Given the description of an element on the screen output the (x, y) to click on. 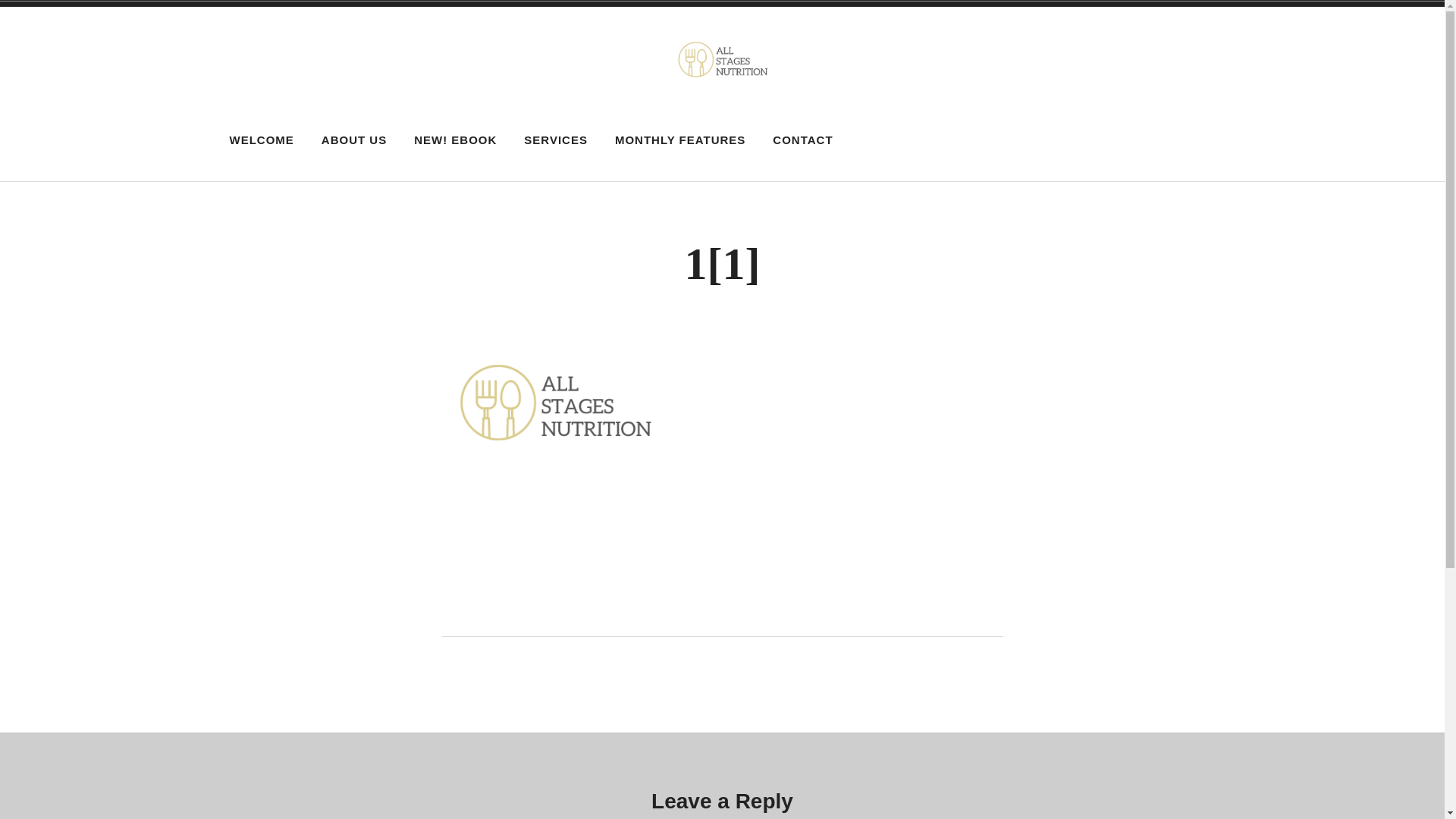
NEW! EBOOK Element type: text (455, 139)
WELCOME Element type: text (261, 139)
ABOUT US Element type: text (354, 139)
SERVICES Element type: text (555, 139)
CONTACT Element type: text (802, 139)
All Stages Nutrition Element type: text (422, 122)
MONTHLY FEATURES Element type: text (679, 139)
